Given the description of an element on the screen output the (x, y) to click on. 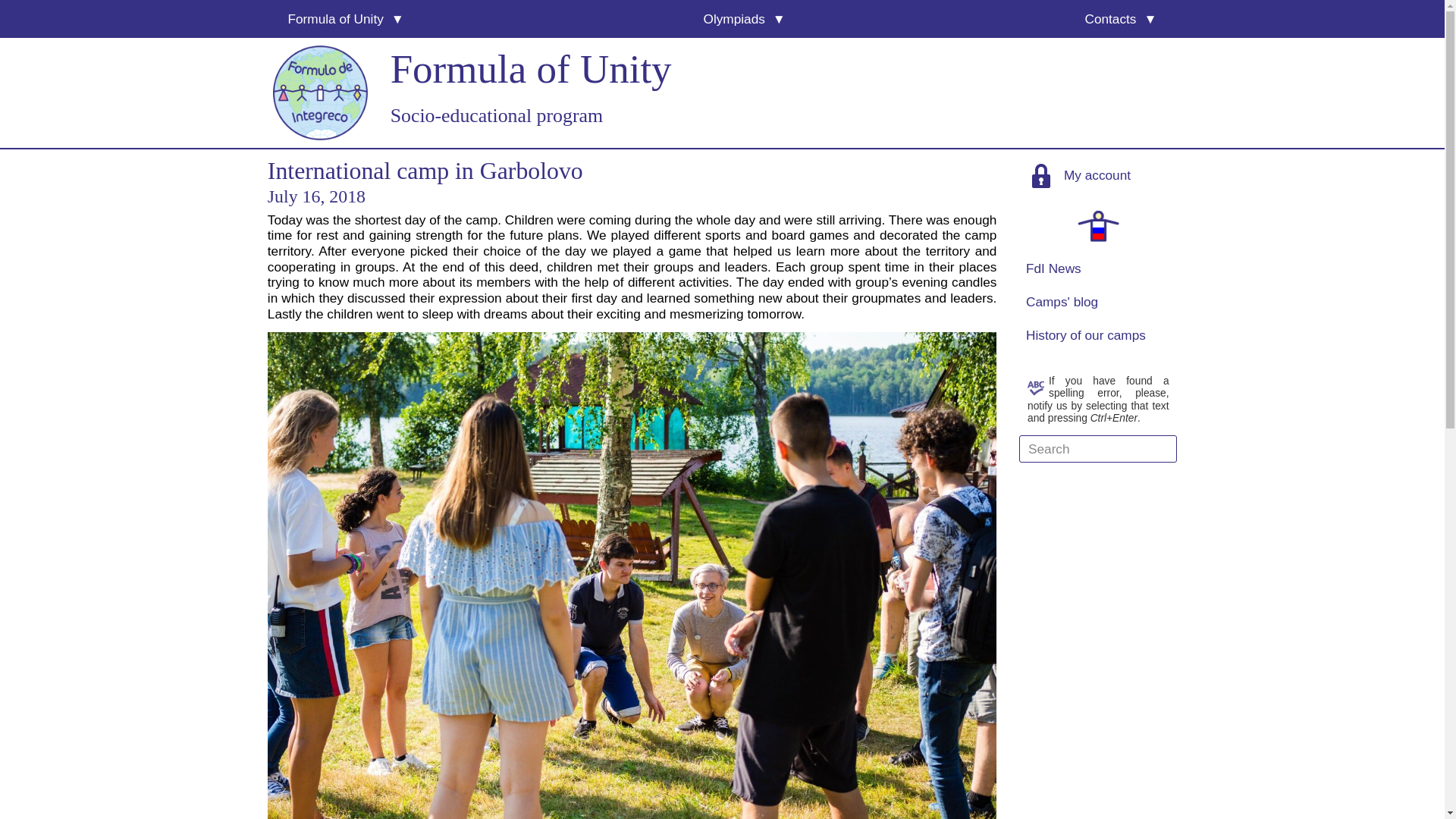
History of our camps (1097, 335)
Camps' blog (1097, 302)
My account (1097, 175)
FdI News (1097, 268)
